Given the description of an element on the screen output the (x, y) to click on. 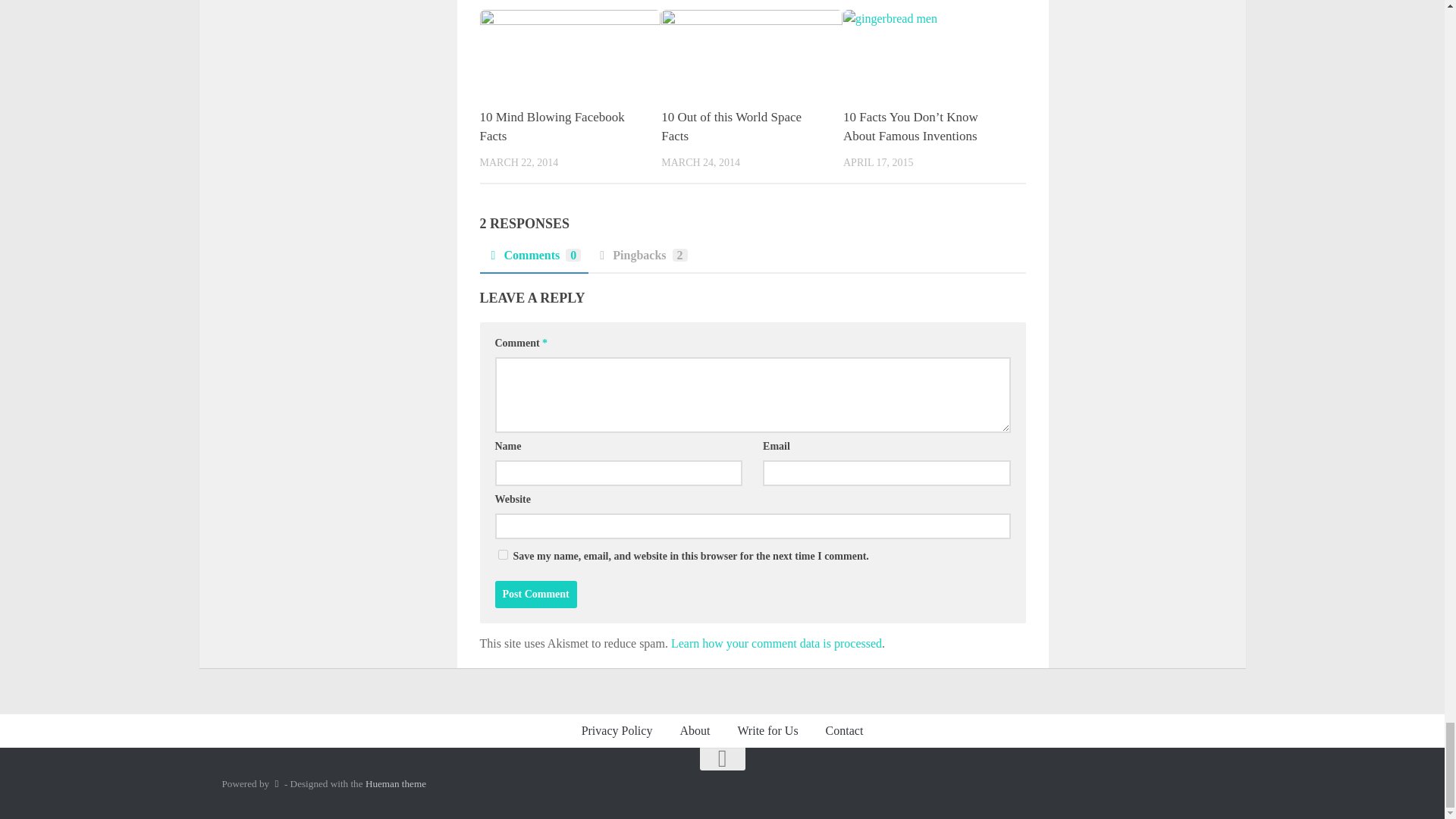
Post Comment (535, 594)
Facebook (1184, 784)
Powered by WordPress (275, 783)
yes (501, 554)
Hueman theme (395, 783)
